Given the description of an element on the screen output the (x, y) to click on. 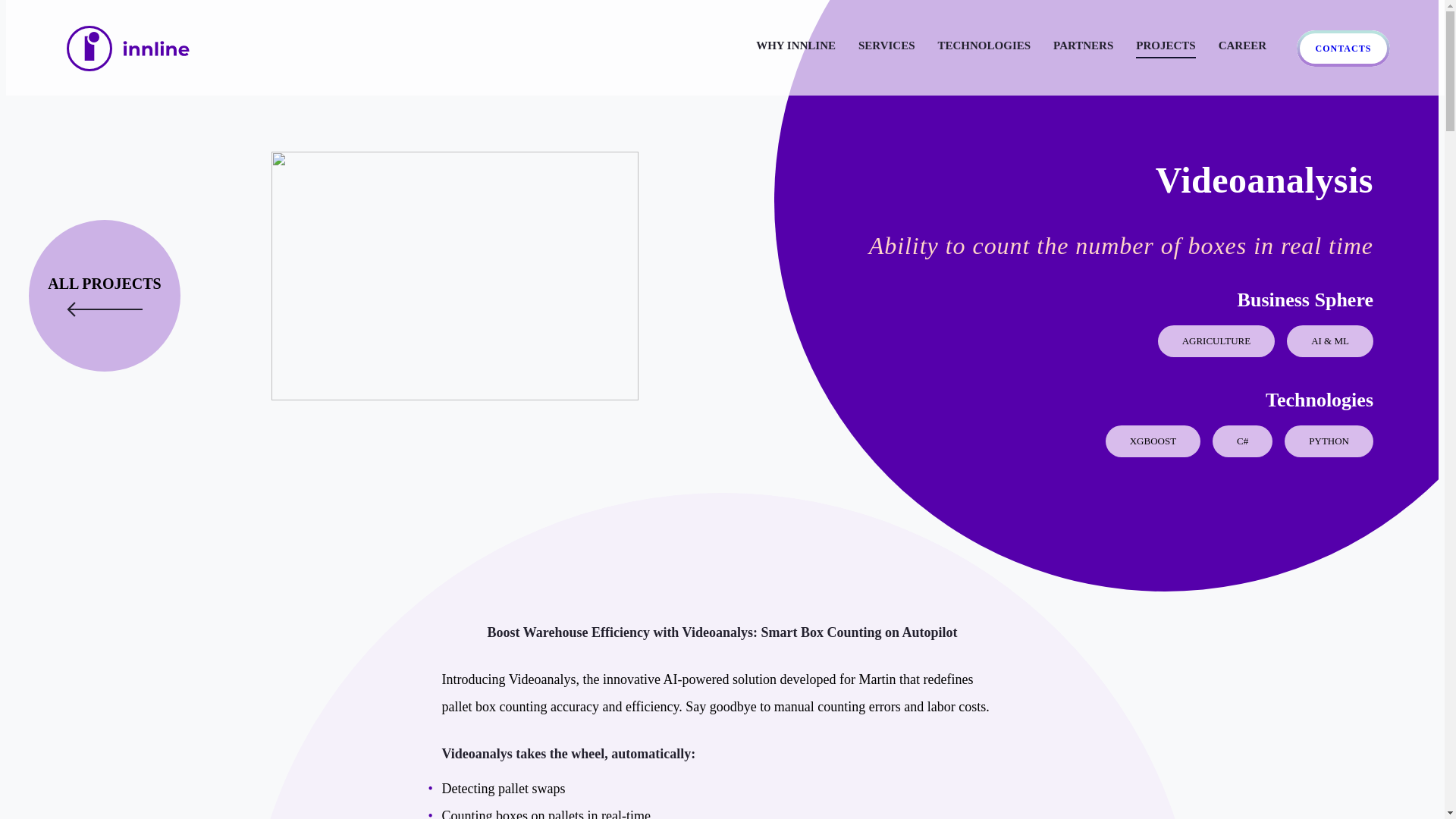
PROJECTS (1165, 48)
CAREER (1242, 48)
SERVICES (887, 48)
WHY INNLINE (795, 48)
TECHNOLOGIES (983, 48)
PARTNERS (1082, 48)
CONTACTS (1343, 48)
